Given the description of an element on the screen output the (x, y) to click on. 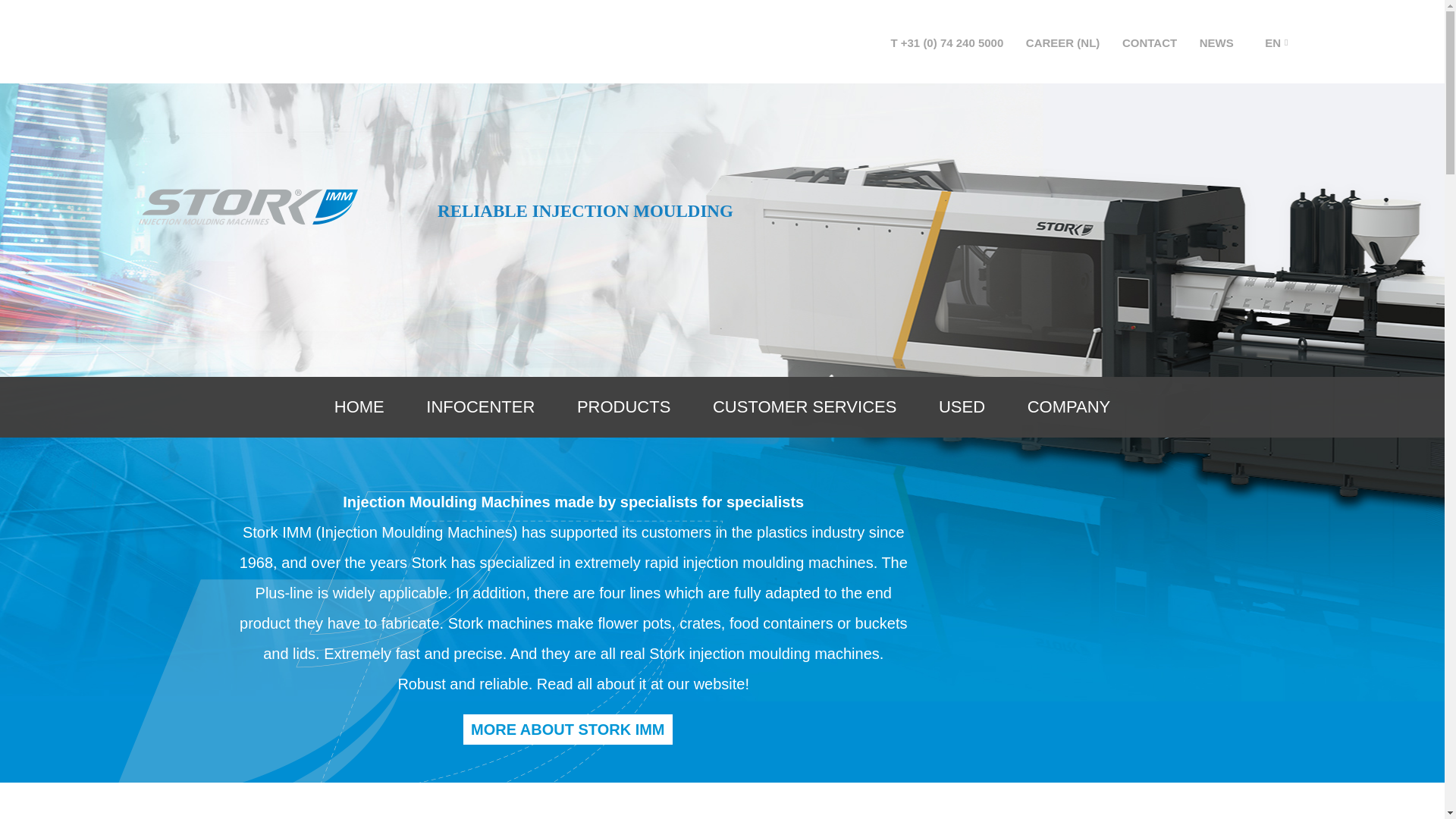
INFOCENTER (480, 406)
NEWS (1216, 42)
CONTACT (1149, 42)
HOME (359, 406)
